Given the description of an element on the screen output the (x, y) to click on. 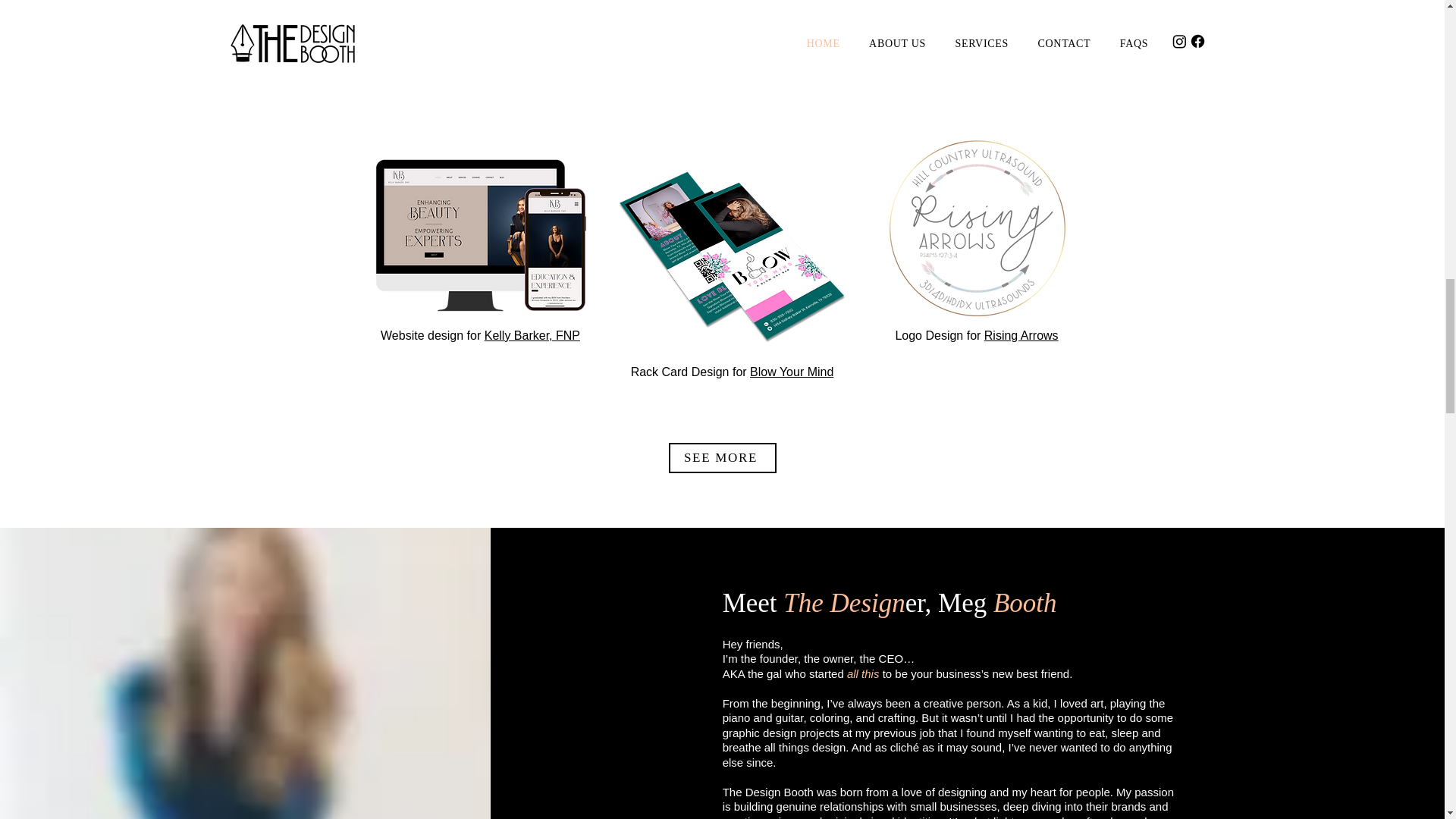
Rising Arrows (1021, 335)
Kelly Barker, FNP (531, 335)
Blow Your Mind (790, 371)
SEE MORE (722, 458)
